Given the description of an element on the screen output the (x, y) to click on. 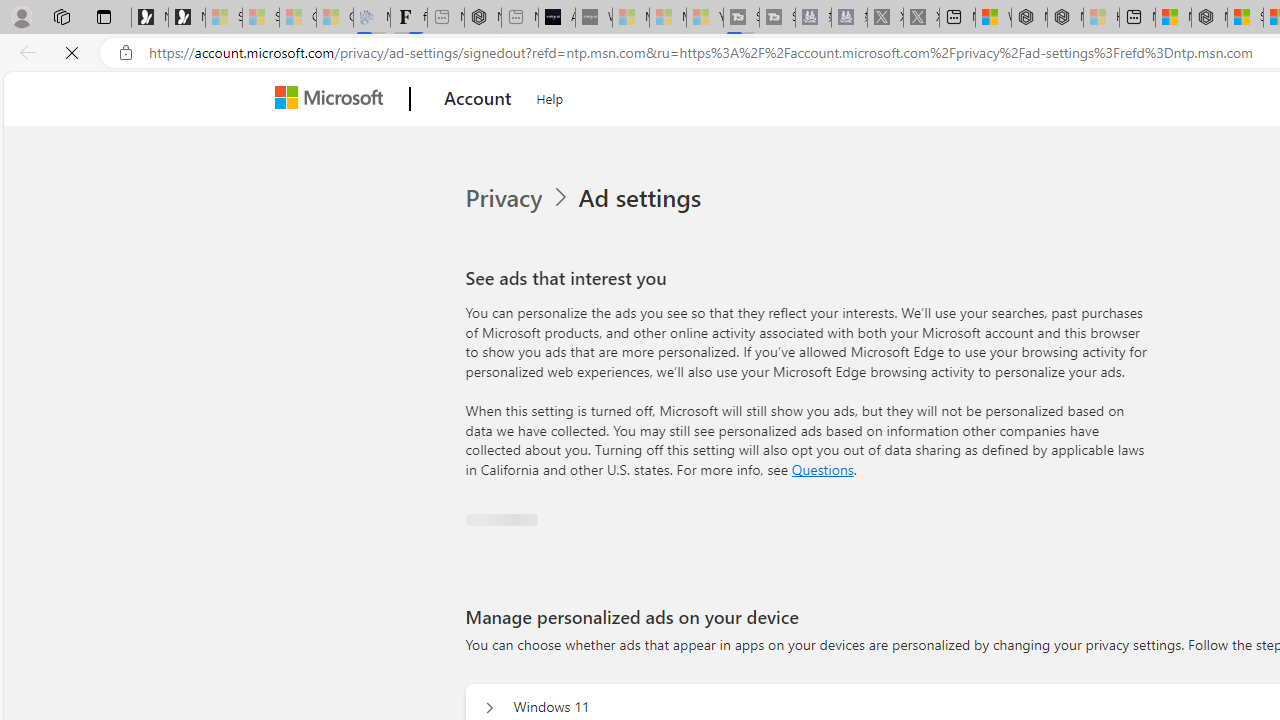
Microsoft Start - Sleeping (668, 17)
New tab - Sleeping (519, 17)
Nordace - Summer Adventures 2024 (1065, 17)
AI Voice Changer for PC and Mac - Voice.ai (556, 17)
Newsletter Sign Up (186, 17)
